Given the description of an element on the screen output the (x, y) to click on. 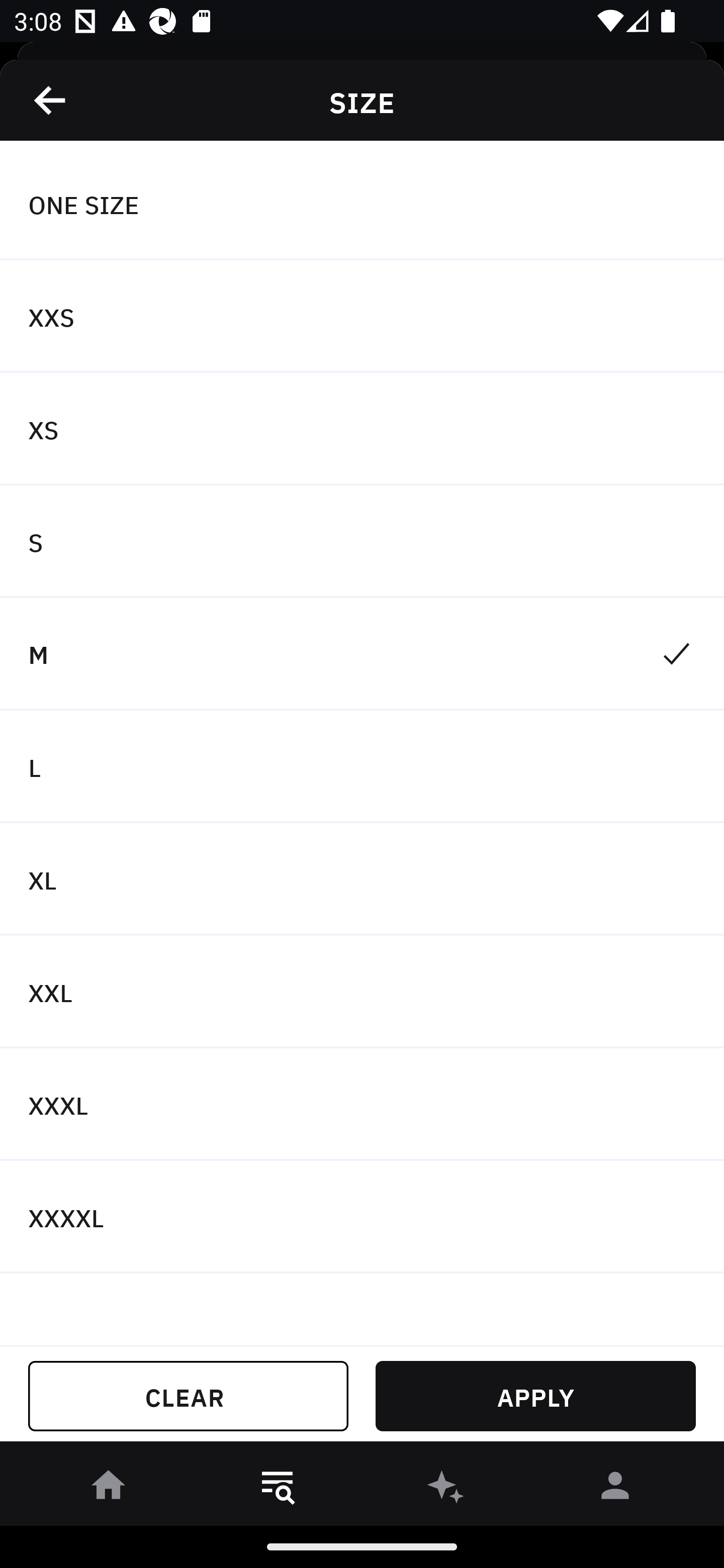
 (50, 100)
ONE SIZE (362, 203)
XXS (362, 316)
XS (362, 429)
S (362, 541)
M  (362, 653)
L (362, 766)
XL (362, 879)
XXL (362, 992)
XXXL (362, 1104)
XXXXL (362, 1216)
CLEAR  (188, 1396)
APPLY (535, 1396)
󰋜 (108, 1488)
󱎸 (277, 1488)
󰫢 (446, 1488)
󰀄 (615, 1488)
